Given the description of an element on the screen output the (x, y) to click on. 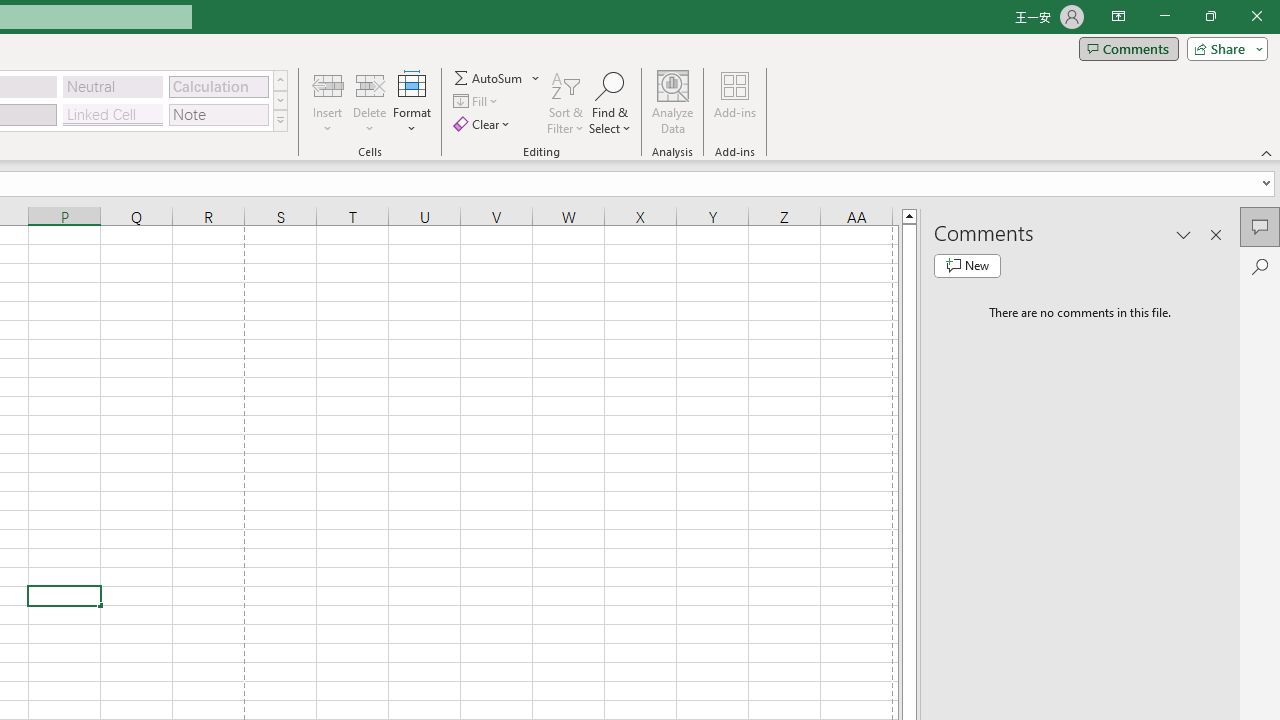
New comment (967, 265)
Delete (369, 102)
Delete Cells... (369, 84)
Minimize (1164, 16)
Sum (489, 78)
Comments (1260, 226)
